Given the description of an element on the screen output the (x, y) to click on. 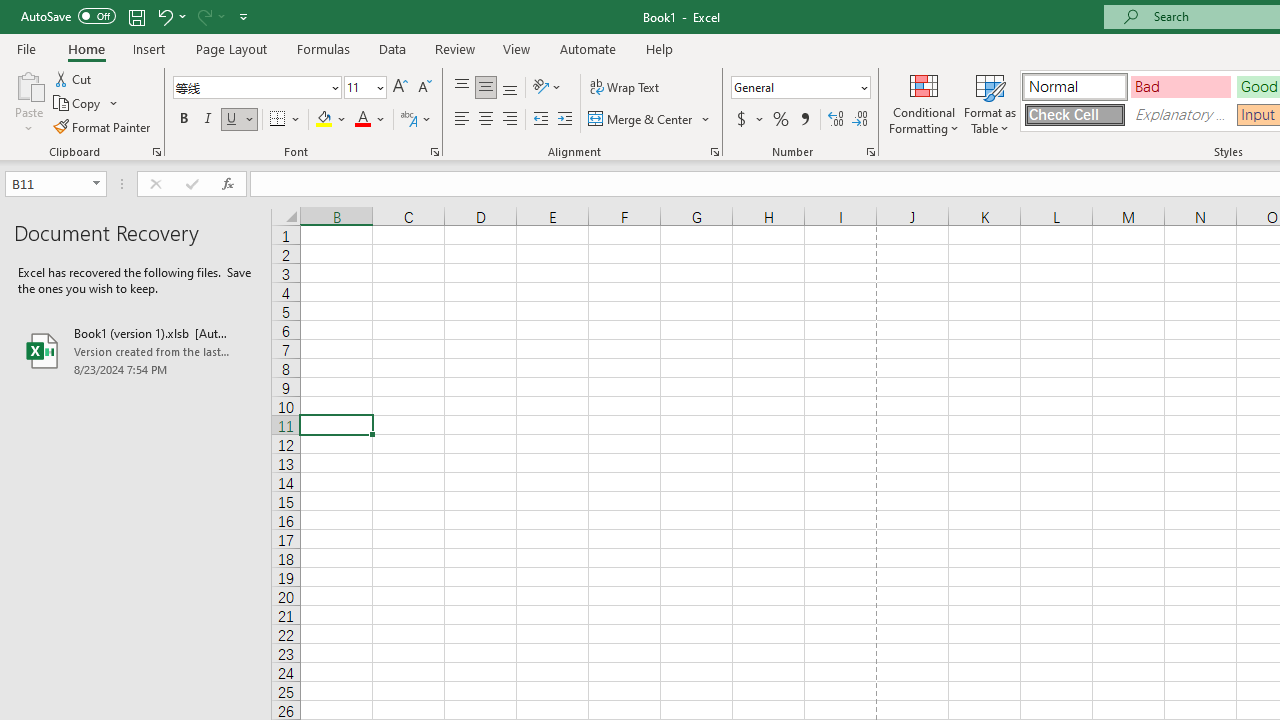
Format Cell Font (434, 151)
File Tab (26, 48)
Undo (170, 15)
Check Cell (1074, 114)
Insert (149, 48)
Wrap Text (624, 87)
Paste (28, 102)
Copy (78, 103)
Format Cell Alignment (714, 151)
Office Clipboard... (156, 151)
Decrease Font Size (424, 87)
Underline (239, 119)
Decrease Indent (540, 119)
System (10, 11)
Open (96, 183)
